Given the description of an element on the screen output the (x, y) to click on. 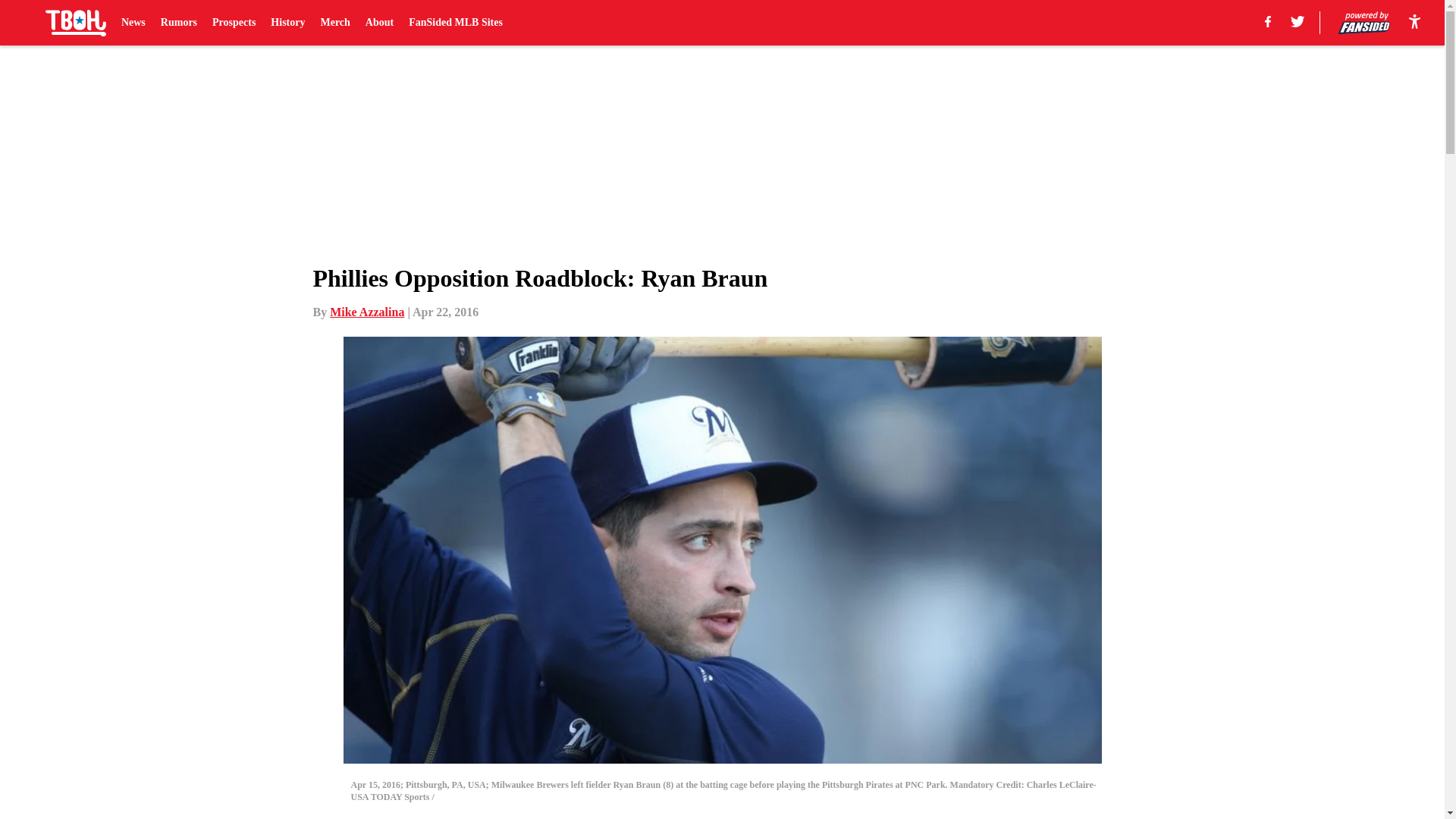
Prospects (234, 22)
Mike Azzalina (367, 311)
News (132, 22)
FanSided MLB Sites (455, 22)
Rumors (178, 22)
Merch (334, 22)
History (287, 22)
About (379, 22)
